Given the description of an element on the screen output the (x, y) to click on. 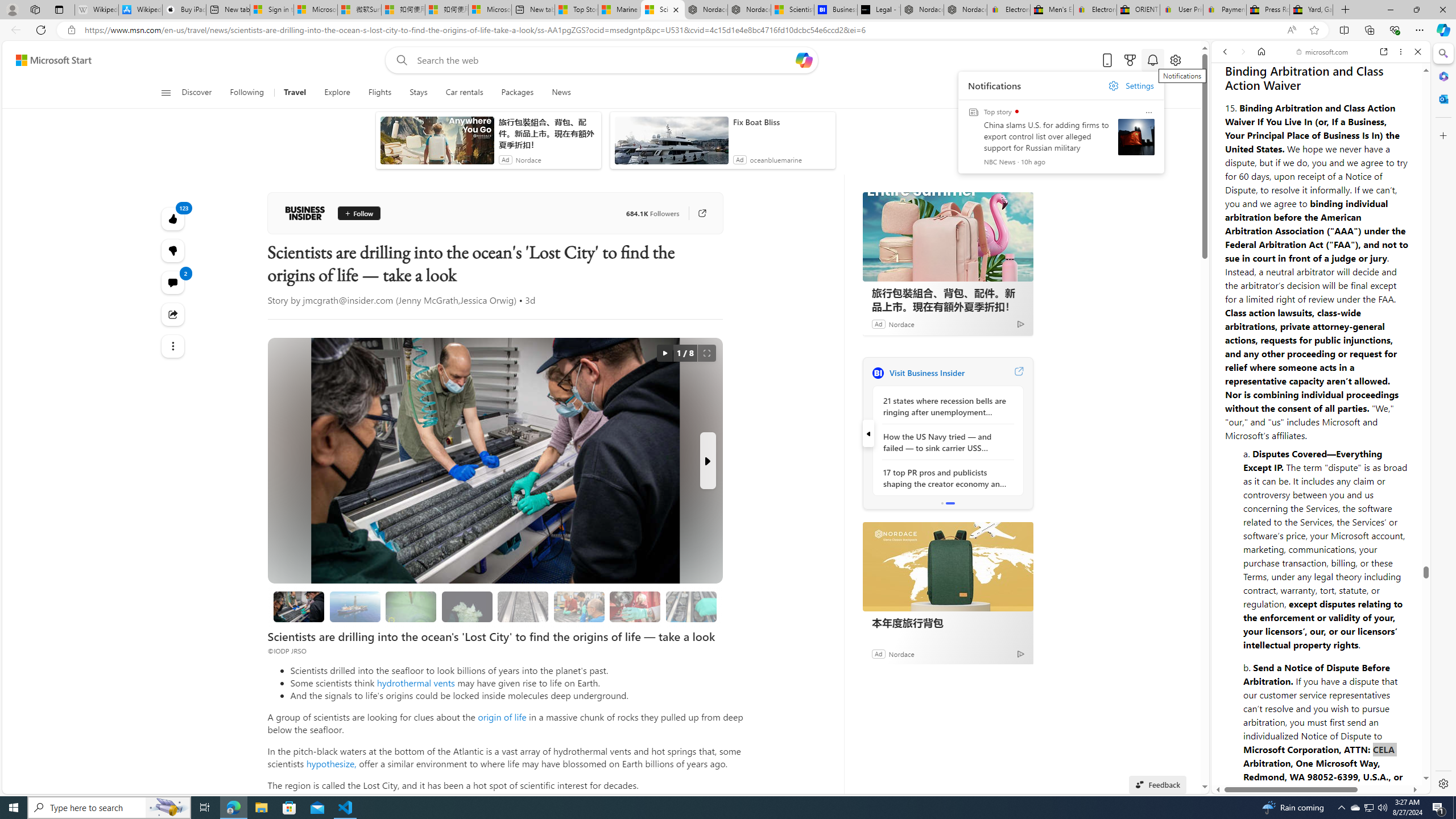
Web search (398, 60)
Open navigation menu (164, 92)
Ad (877, 653)
Travel (294, 92)
Customize (1442, 135)
Share this story (172, 314)
Tab actions menu (58, 9)
Microsoft Services Agreement (315, 9)
Personalize (1006, 92)
Close tab (676, 9)
Copilot (Ctrl+Shift+.) (1442, 29)
Dislike (172, 250)
News (560, 92)
hypothesize, (330, 763)
